Given the description of an element on the screen output the (x, y) to click on. 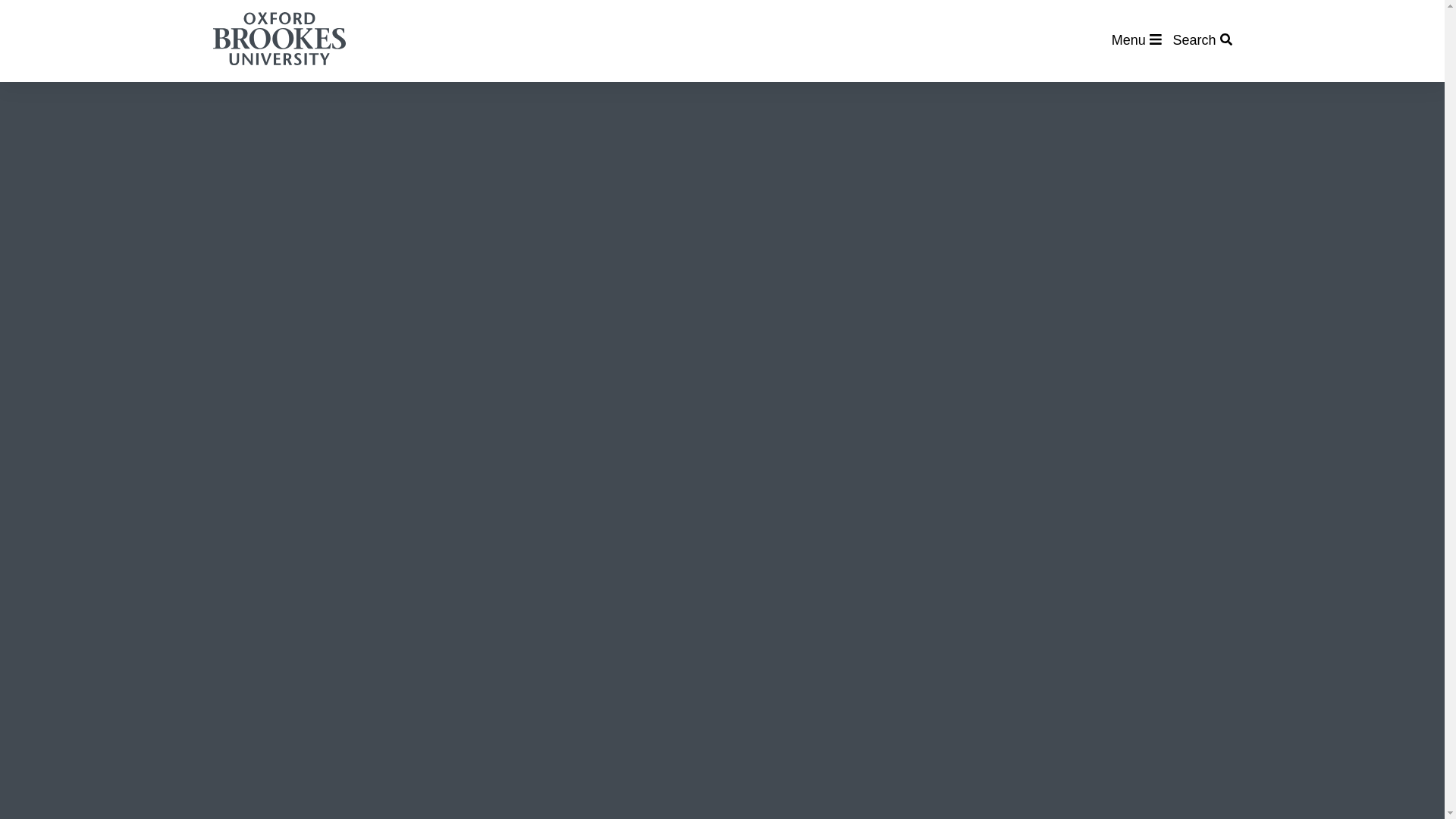
Menu (1136, 39)
Search (1201, 39)
